Given the description of an element on the screen output the (x, y) to click on. 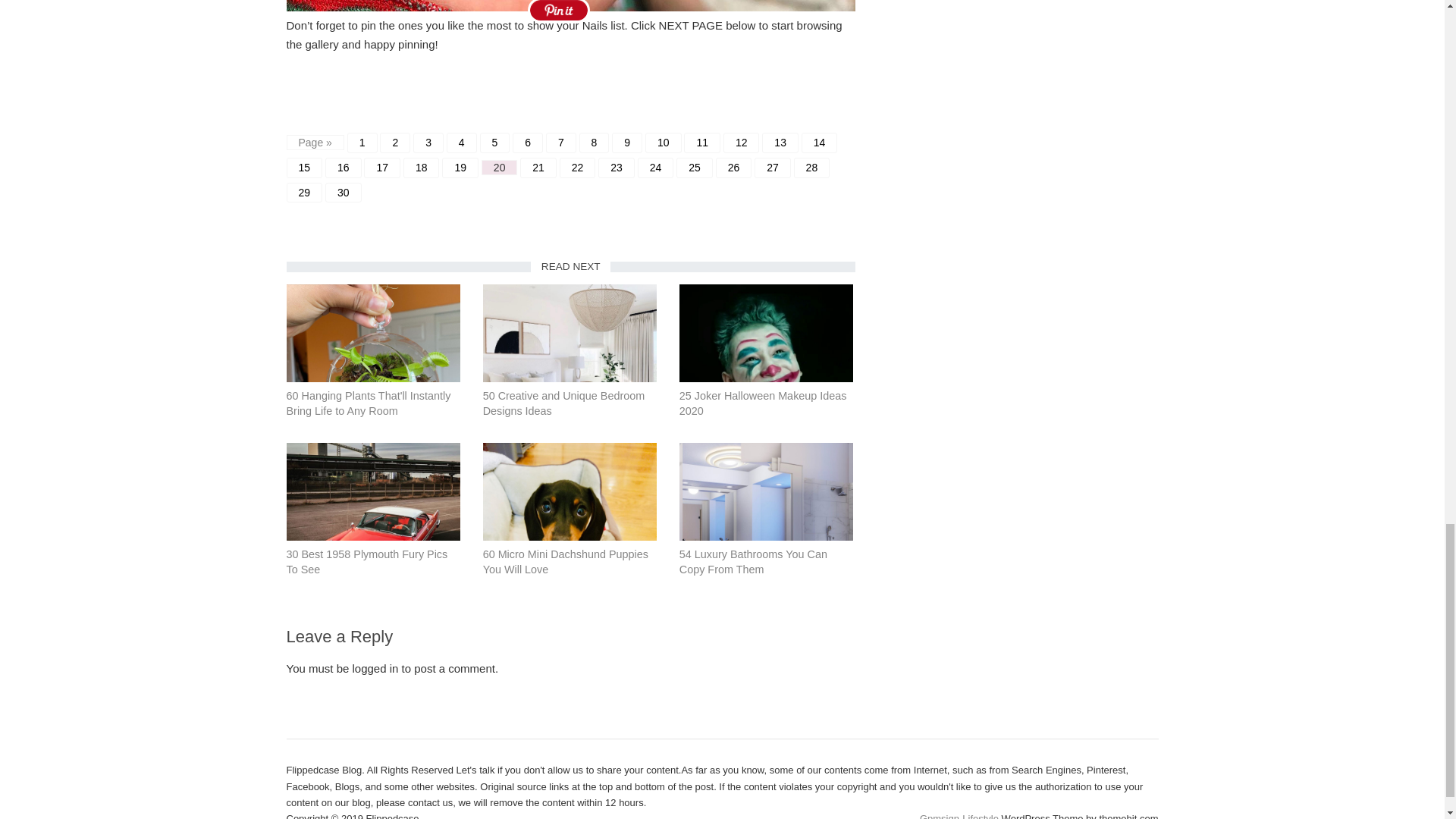
21 (537, 168)
9 (626, 142)
10 (663, 142)
25 (695, 168)
16 (342, 168)
13 (779, 142)
15 (304, 168)
14 (820, 142)
27 (772, 168)
3 (428, 142)
11 (702, 142)
2 (395, 142)
7 (561, 142)
5 (495, 142)
8 (594, 142)
